Given the description of an element on the screen output the (x, y) to click on. 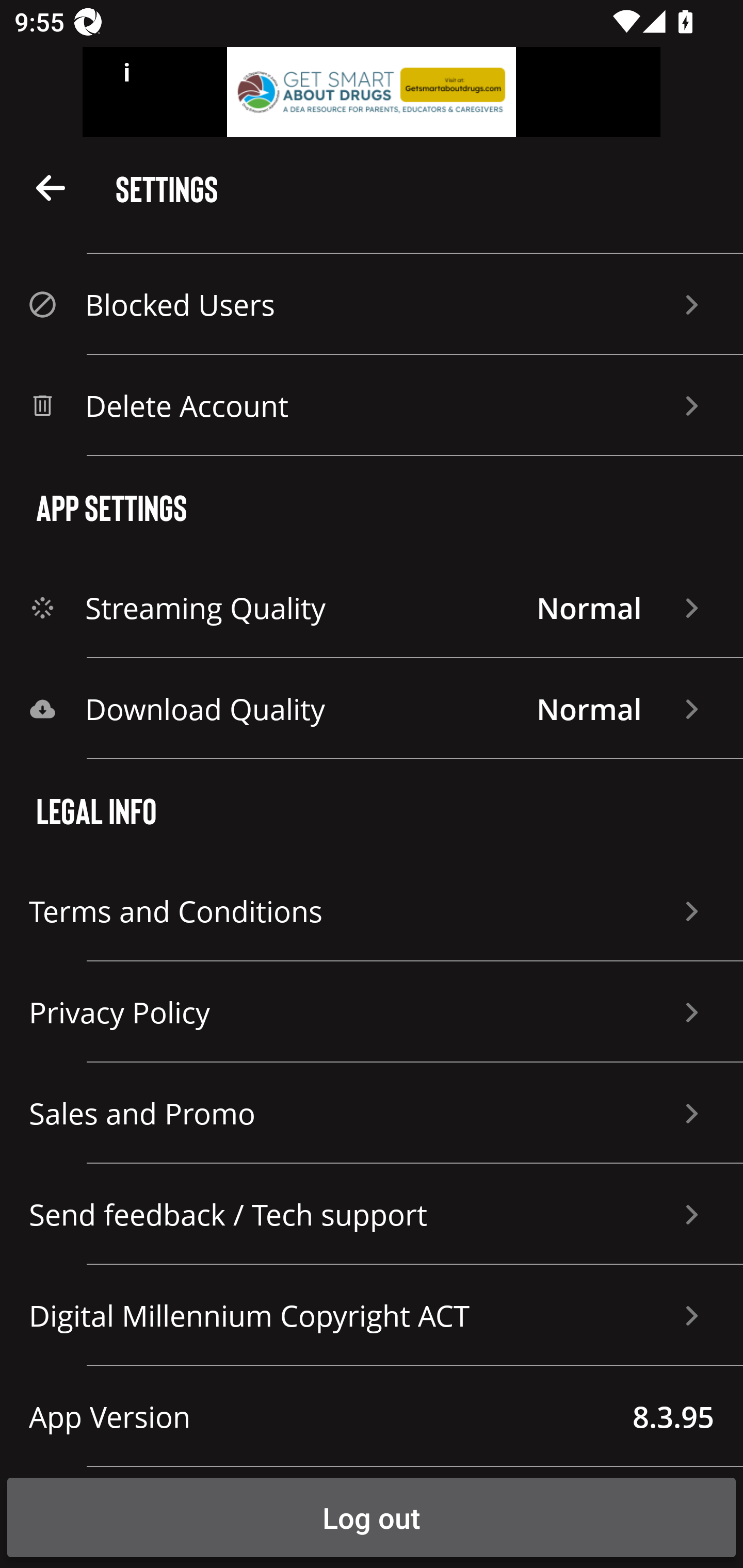
Description (50, 187)
Blocked Users (371, 304)
Delete Account (371, 405)
Streaming Quality Normal (371, 607)
Download Quality Normal (371, 708)
Terms and Conditions (371, 910)
Privacy Policy (371, 1012)
Sales and Promo (371, 1113)
Send feedback / Tech support (371, 1214)
Digital Millennium Copyright ACT (371, 1315)
Log out (371, 1517)
